Given the description of an element on the screen output the (x, y) to click on. 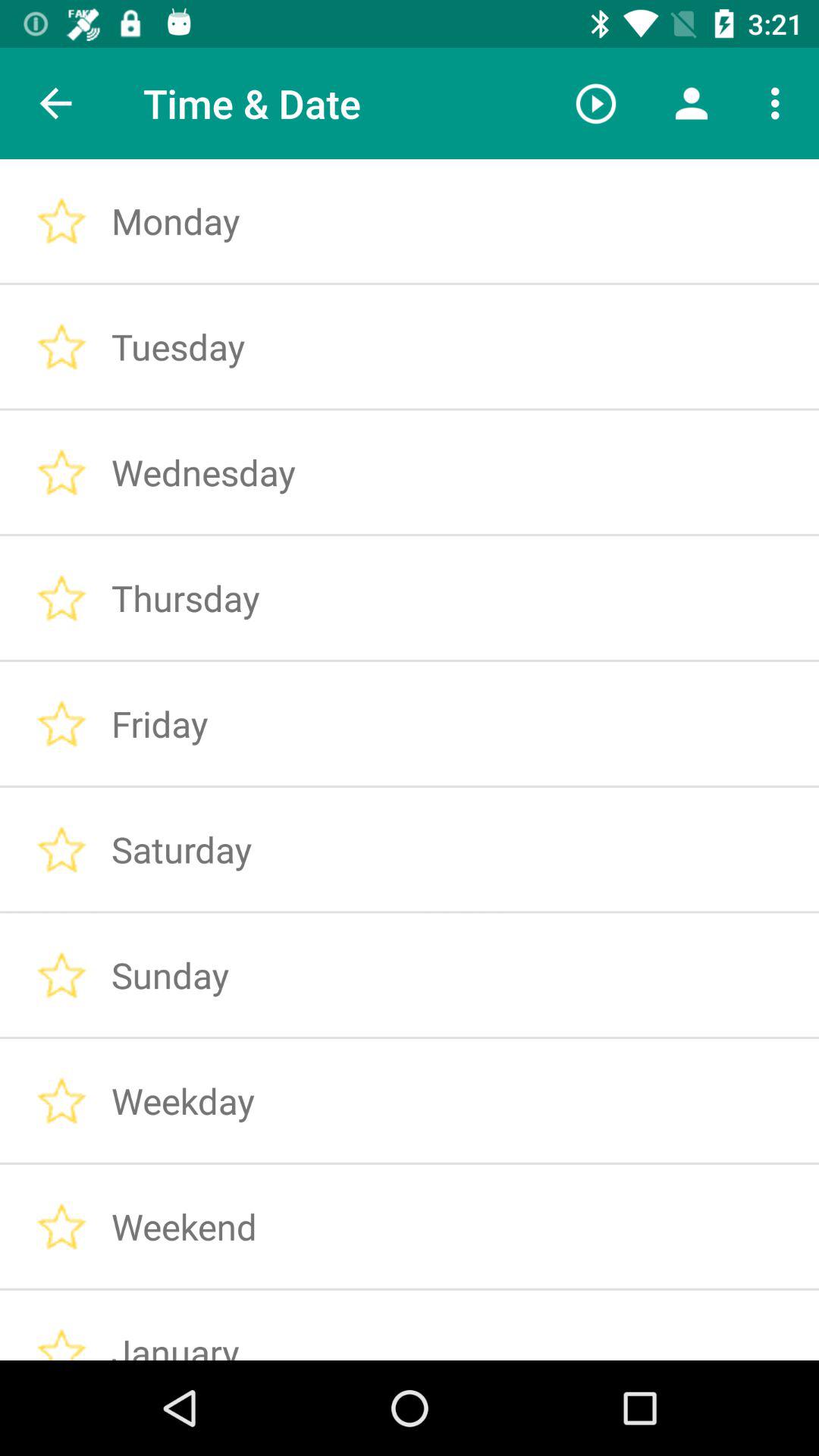
tap the icon to the right of time & date (595, 103)
